Given the description of an element on the screen output the (x, y) to click on. 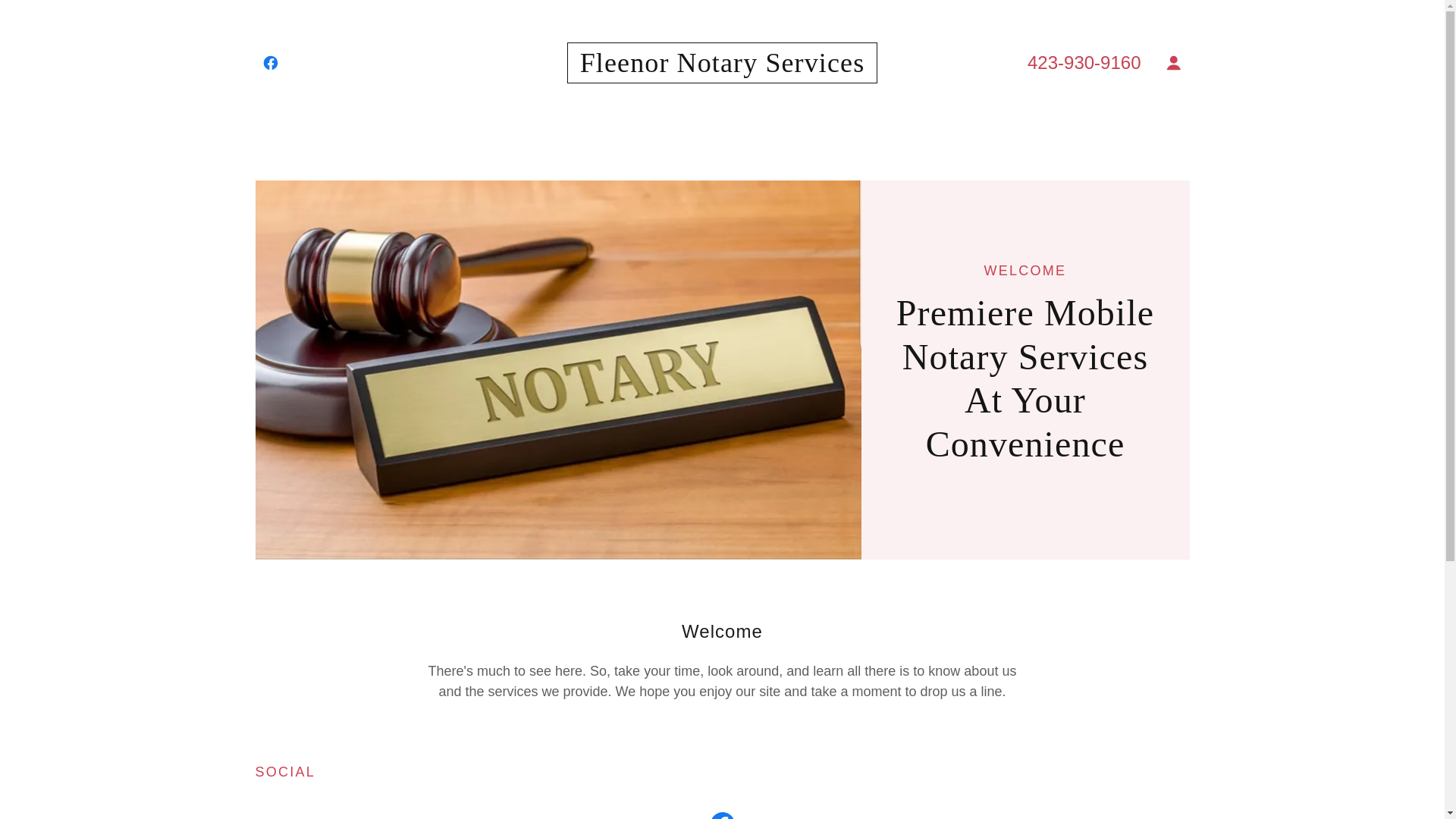
Fleenor Notary Services (722, 67)
423-930-9160 (1083, 62)
Fleenor Notary Services (722, 67)
